Given the description of an element on the screen output the (x, y) to click on. 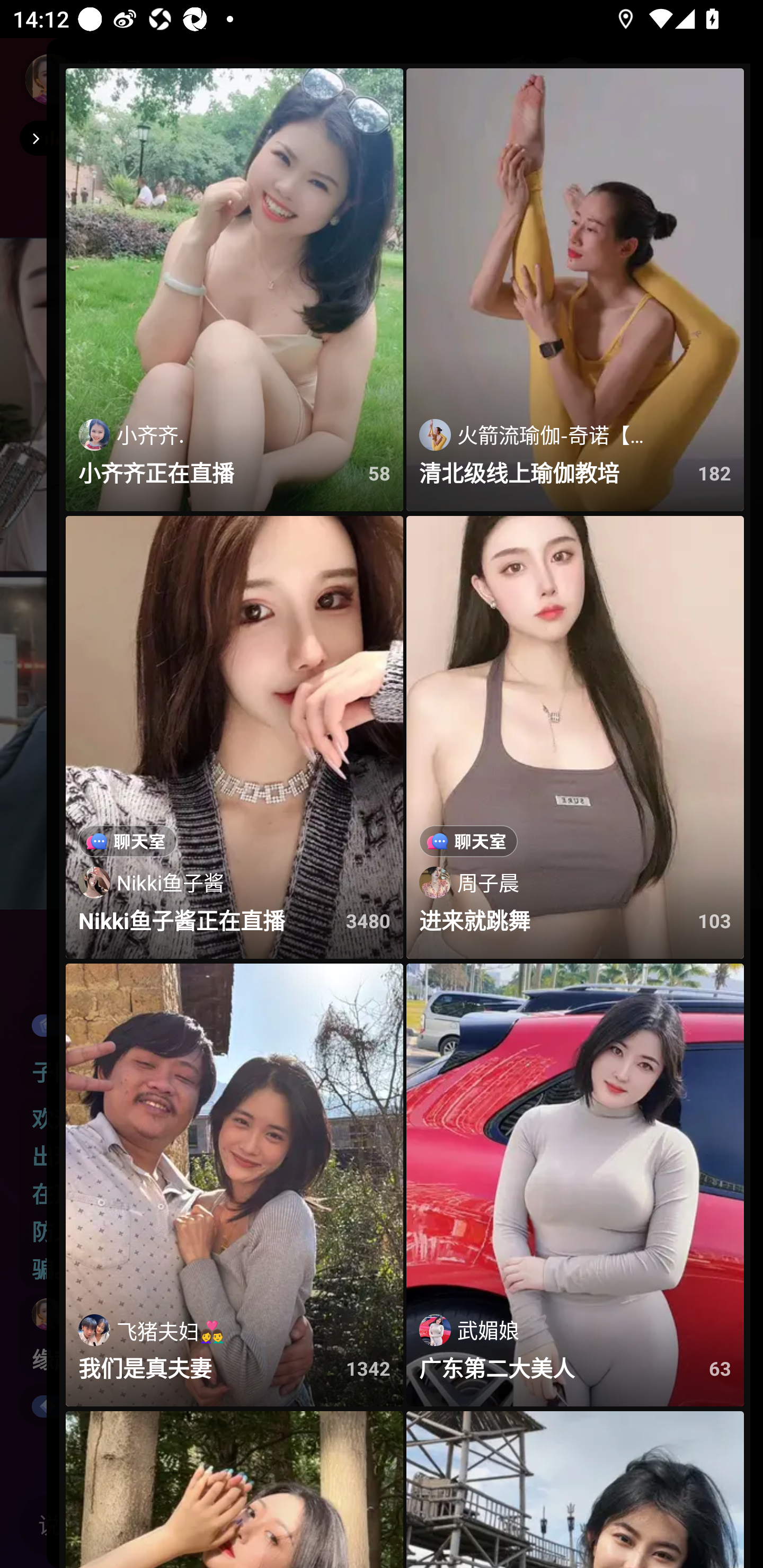
小齐齐正在直播 小齐齐. 58人在线 小齐齐. 小齐齐正在直播 58 (233, 289)
返回 (32, 137)
进来就跳舞 周子晨 103人在线 聊天室 周子晨 进来就跳舞 103 (574, 736)
我们是真夫妻 飞猪夫妇👩‍❤️‍👨 1342人在线 飞猪夫妇👩‍❤️‍👨 我们是真夫妻 1342 (233, 1185)
广东第二大美人 武媚娘 63人在线 武媚娘 广东第二大美人 63 (574, 1185)
